Given the description of an element on the screen output the (x, y) to click on. 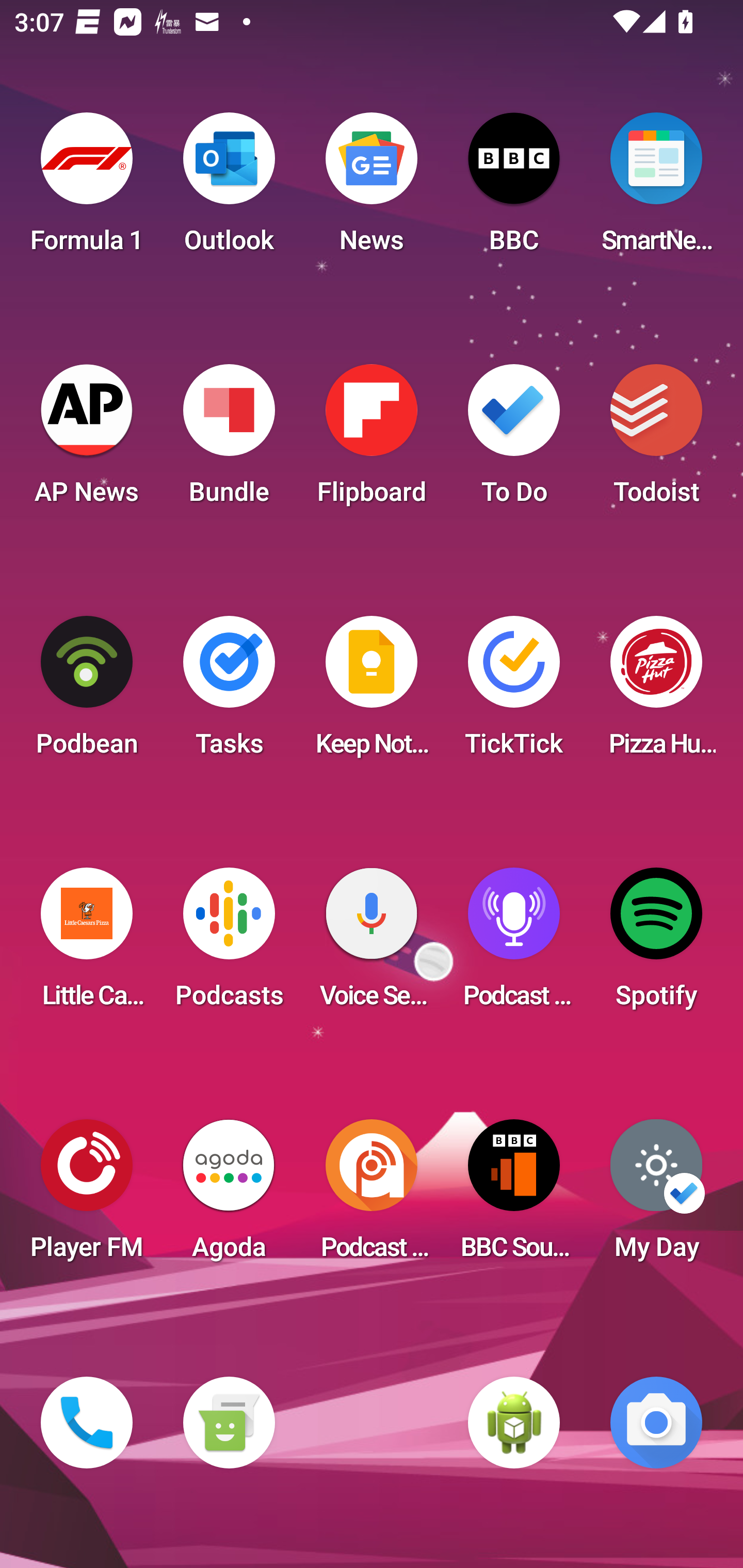
Formula 1 (86, 188)
Outlook (228, 188)
News (371, 188)
BBC (513, 188)
SmartNews (656, 188)
AP News (86, 440)
Bundle (228, 440)
Flipboard (371, 440)
To Do (513, 440)
Todoist (656, 440)
Podbean (86, 692)
Tasks (228, 692)
Keep Notes (371, 692)
TickTick (513, 692)
Pizza Hut HK & Macau (656, 692)
Little Caesars Pizza (86, 943)
Podcasts (228, 943)
Voice Search (371, 943)
Podcast Player (513, 943)
Spotify (656, 943)
Player FM (86, 1195)
Agoda (228, 1195)
Podcast Addict (371, 1195)
BBC Sounds (513, 1195)
My Day (656, 1195)
Phone (86, 1422)
Messaging (228, 1422)
WebView Browser Tester (513, 1422)
Camera (656, 1422)
